Given the description of an element on the screen output the (x, y) to click on. 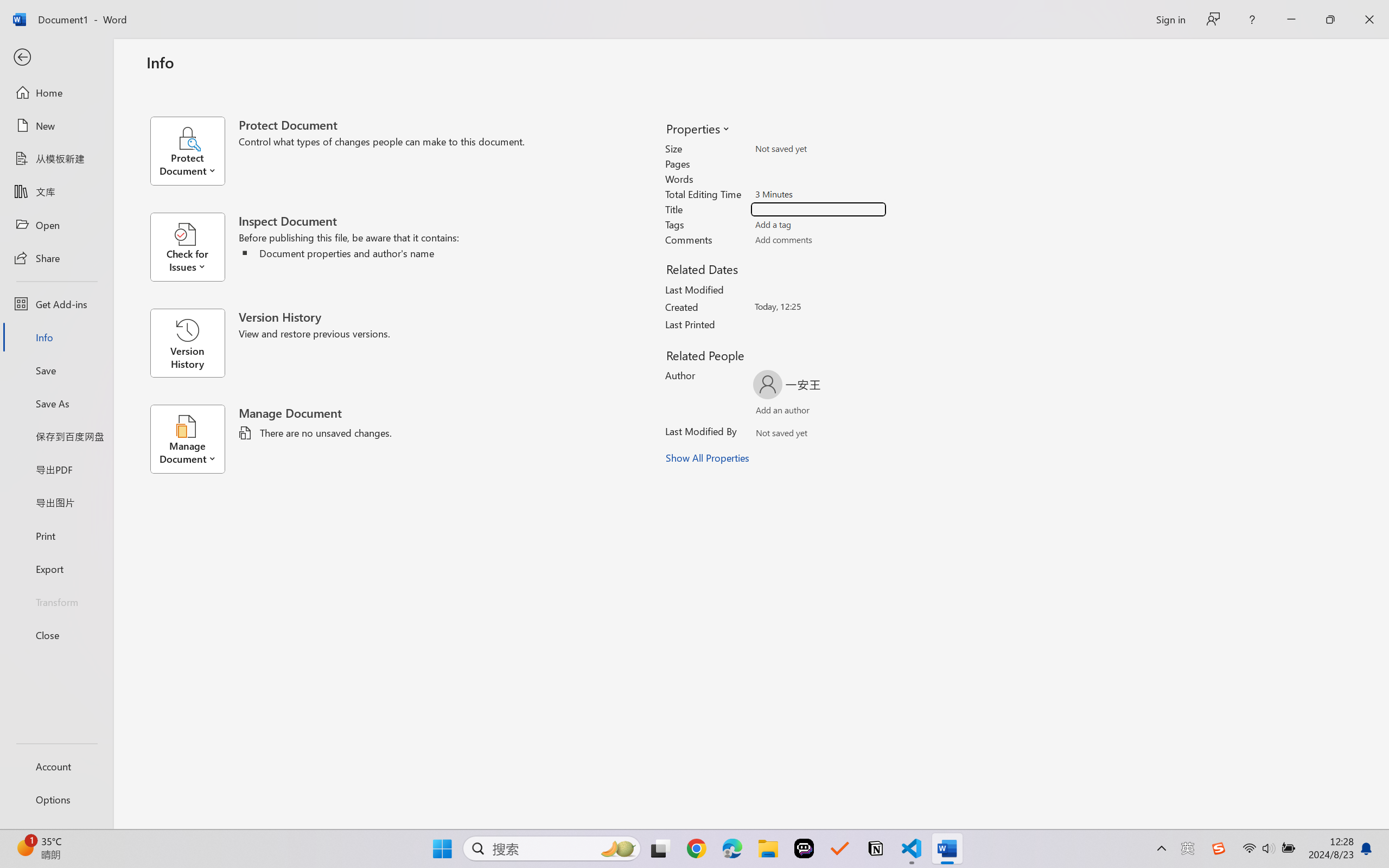
Solutions (167, 71)
June 6, 2024 (532, 782)
Partner-Specific Terms keyboard_arrow_down (689, 660)
Sign in - Google Accounts (985, 12)
Google (758, 12)
Service Terms keyboard_arrow_down (689, 514)
Pricing (247, 71)
